Given the description of an element on the screen output the (x, y) to click on. 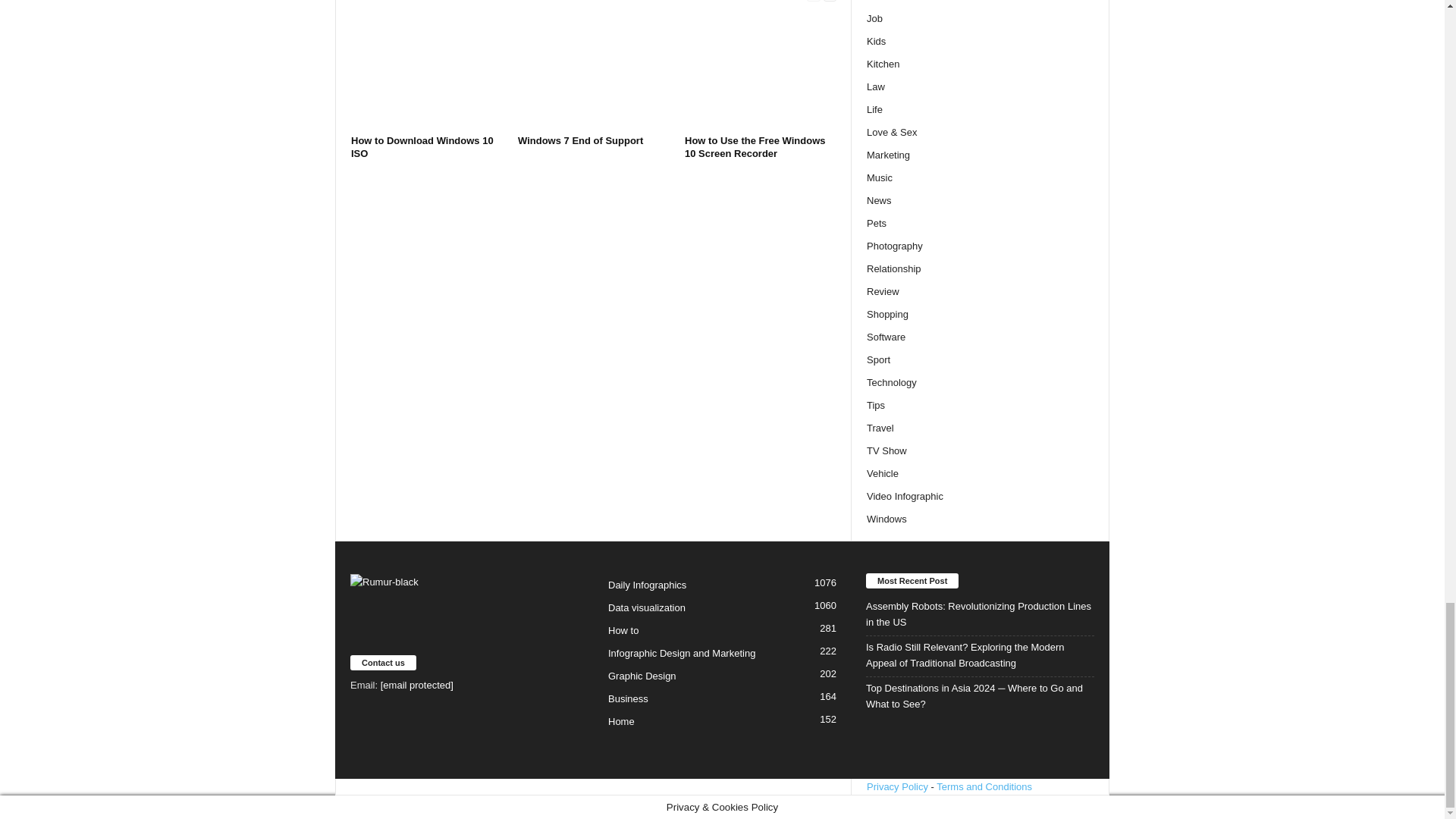
How to Download Windows 10 ISO (426, 72)
How to Download Windows 10 ISO (421, 146)
How to Use the Free Windows 10 Screen Recorder (759, 72)
Windows 7 End of Support (580, 140)
How to Use the Free Windows 10 Screen Recorder (754, 146)
Windows 7 End of Support (593, 72)
